Given the description of an element on the screen output the (x, y) to click on. 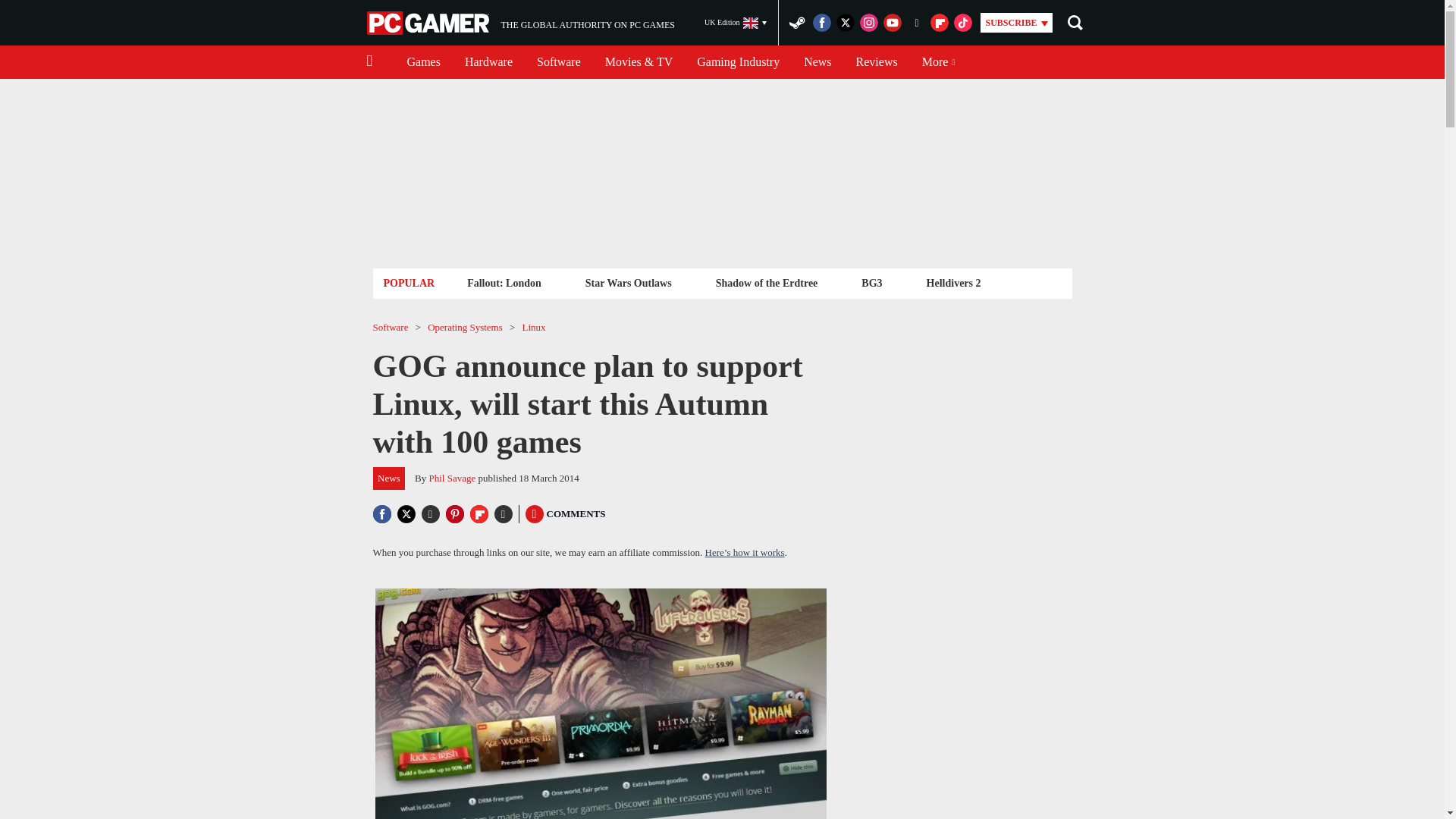
Games (422, 61)
News (817, 61)
PC Gamer (520, 22)
Fallout: London (429, 22)
Software (504, 282)
Hardware (558, 61)
UK Edition (488, 61)
Gaming Industry (735, 22)
Reviews (738, 61)
